Given the description of an element on the screen output the (x, y) to click on. 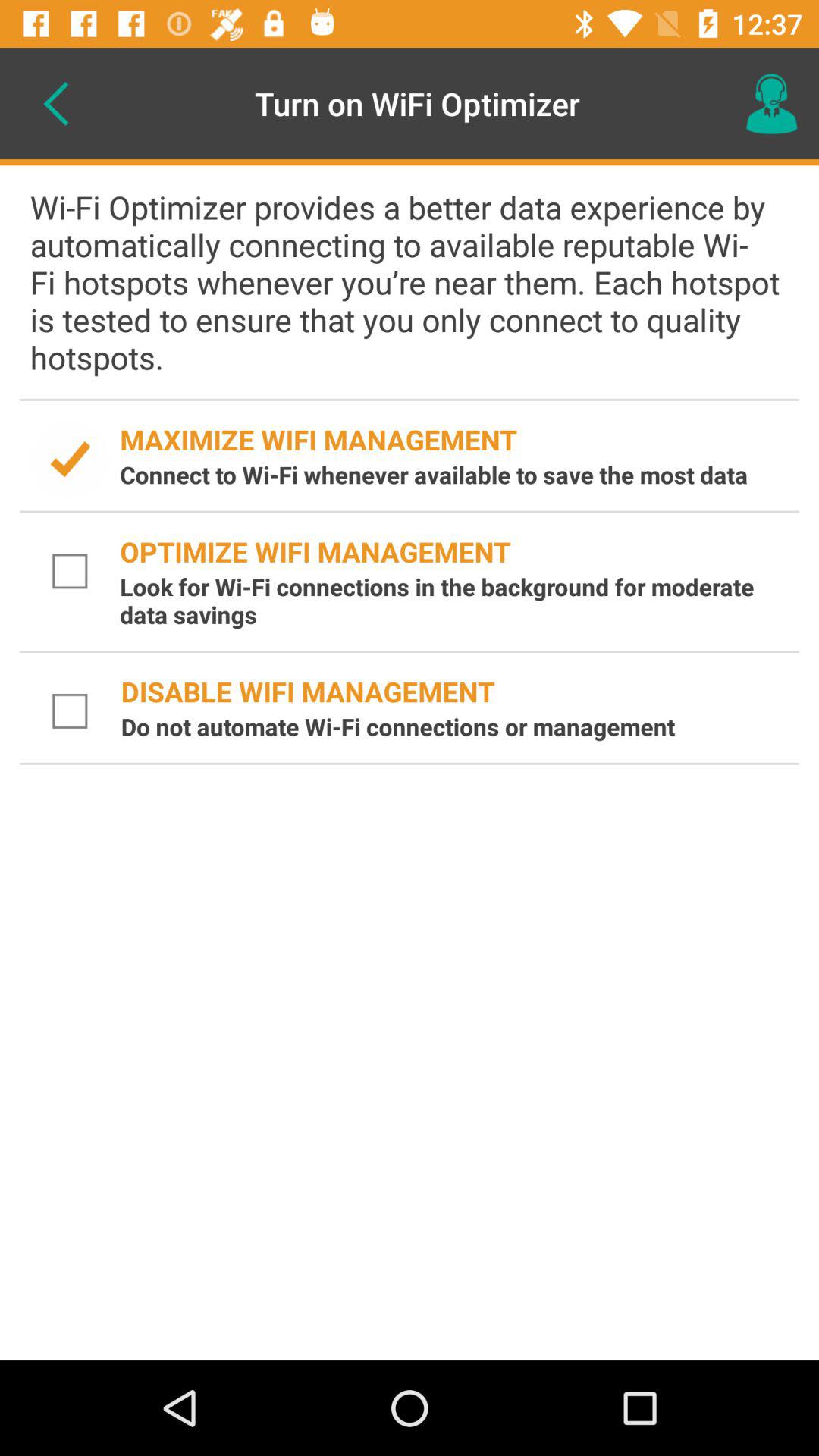
optimize wifi management (69, 571)
